Given the description of an element on the screen output the (x, y) to click on. 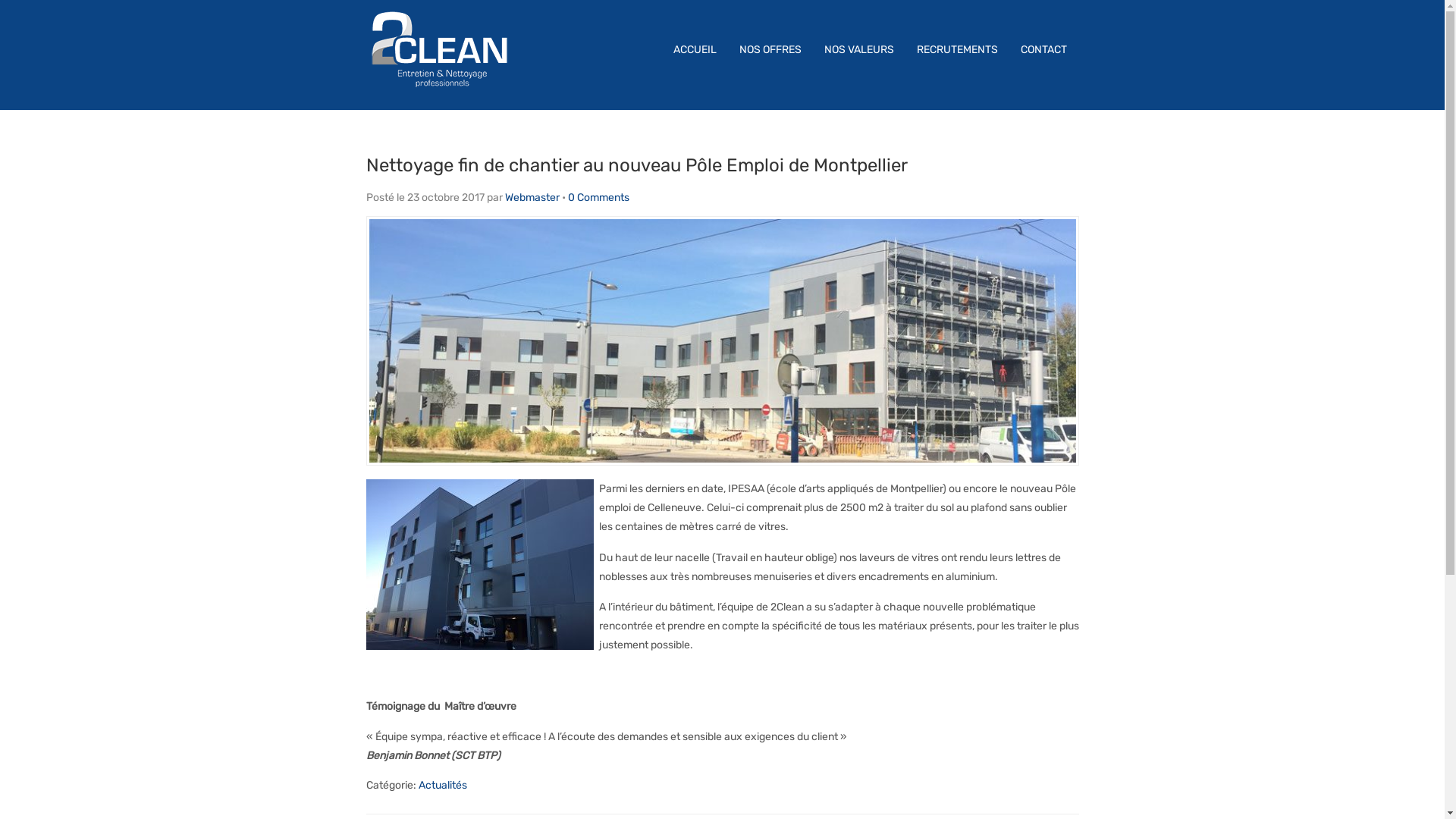
CONTACT Element type: text (1043, 49)
ACCUEIL Element type: text (695, 49)
NOS OFFRES Element type: text (770, 49)
RECRUTEMENTS Element type: text (957, 49)
NOS VALEURS Element type: text (858, 49)
0 Comments Element type: text (597, 197)
Webmaster Element type: text (532, 197)
